Given the description of an element on the screen output the (x, y) to click on. 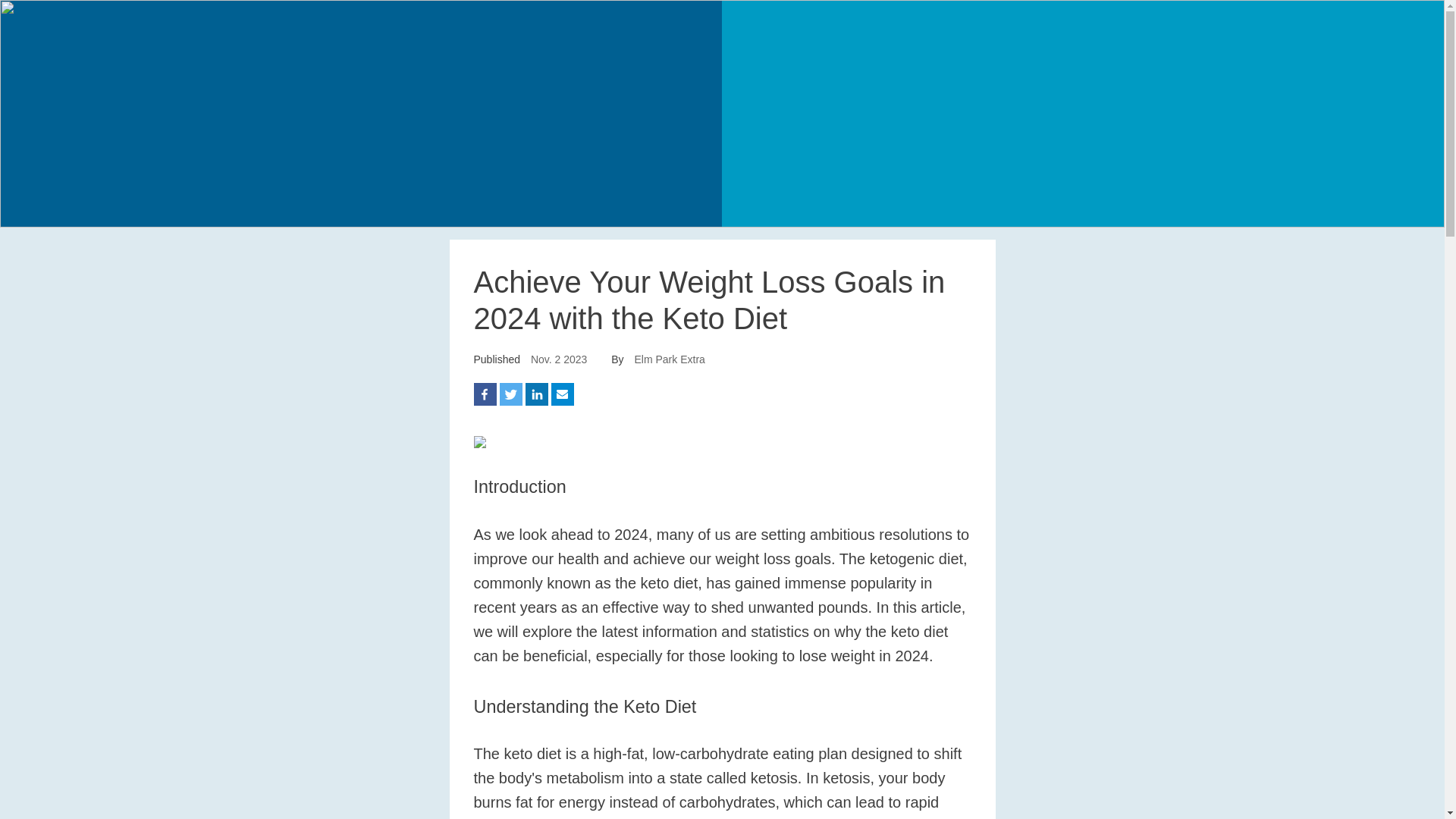
Email (562, 394)
LinkedIn (536, 394)
Twitter (510, 394)
Facebook (484, 394)
